Given the description of an element on the screen output the (x, y) to click on. 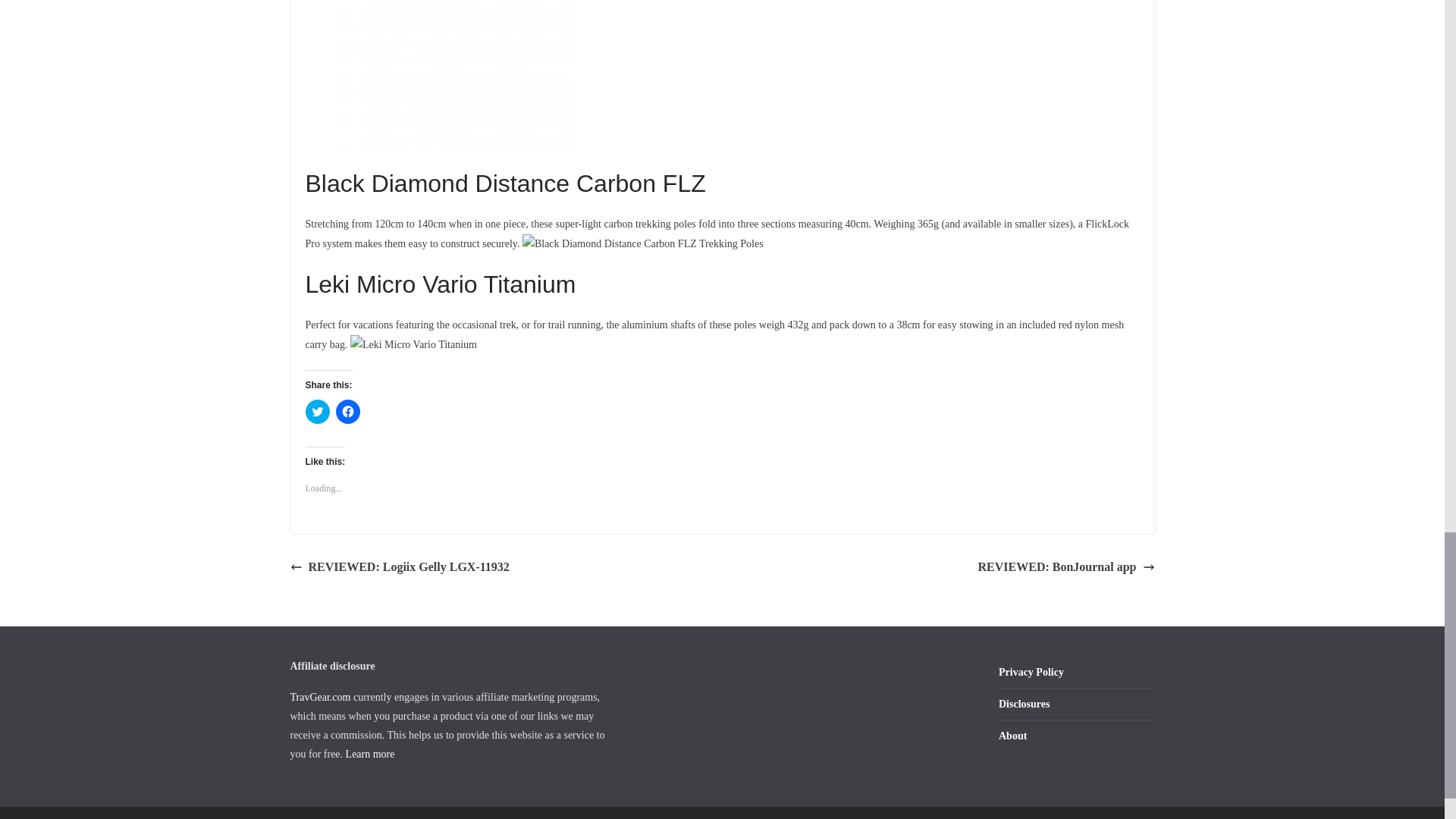
REVIEWED: BonJournal app (1066, 567)
Disclosures (1023, 704)
About (1012, 736)
REVIEWED: Logiix Gelly LGX-11932 (398, 567)
Learn more (370, 754)
Click to share on Facebook (346, 411)
Click to share on Twitter (316, 411)
TravGear.com (319, 696)
Privacy Policy (1031, 672)
